Given the description of an element on the screen output the (x, y) to click on. 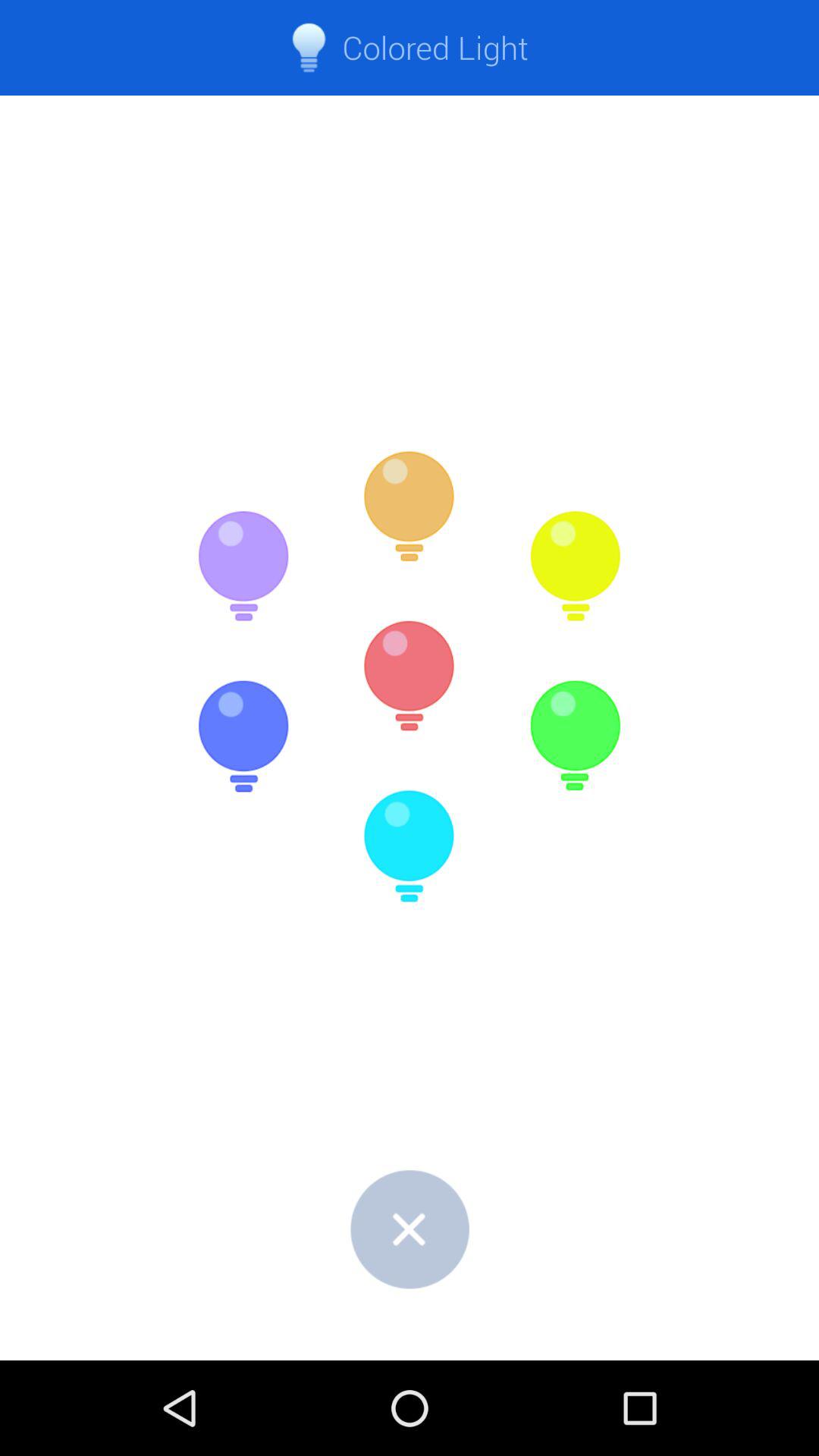
turn off the icon at the bottom (409, 1228)
